Given the description of an element on the screen output the (x, y) to click on. 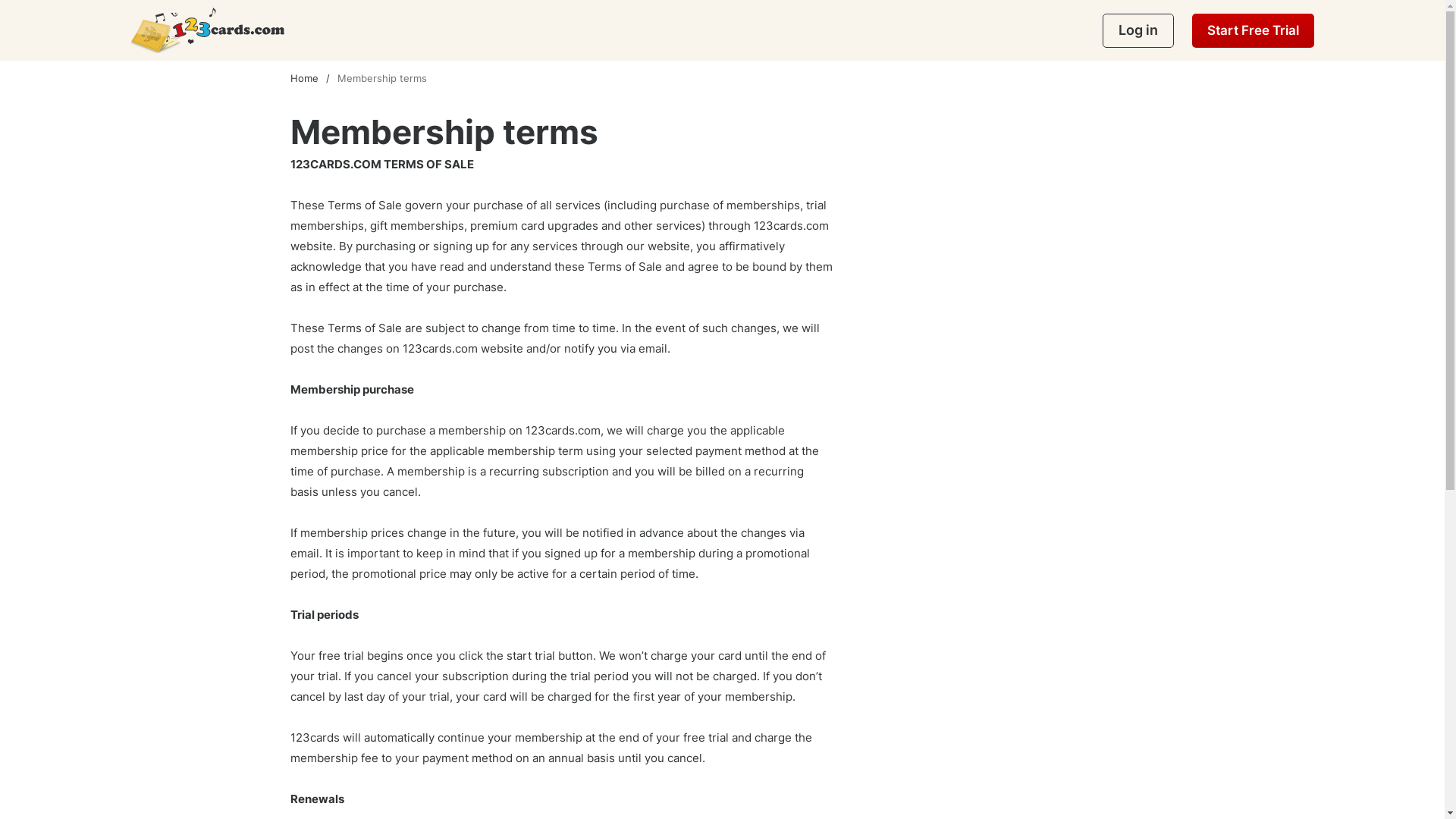
Log in Element type: text (1137, 30)
123cards.com Element type: hover (206, 30)
Start Free Trial Element type: text (1253, 30)
Home Element type: text (312, 78)
